Given the description of an element on the screen output the (x, y) to click on. 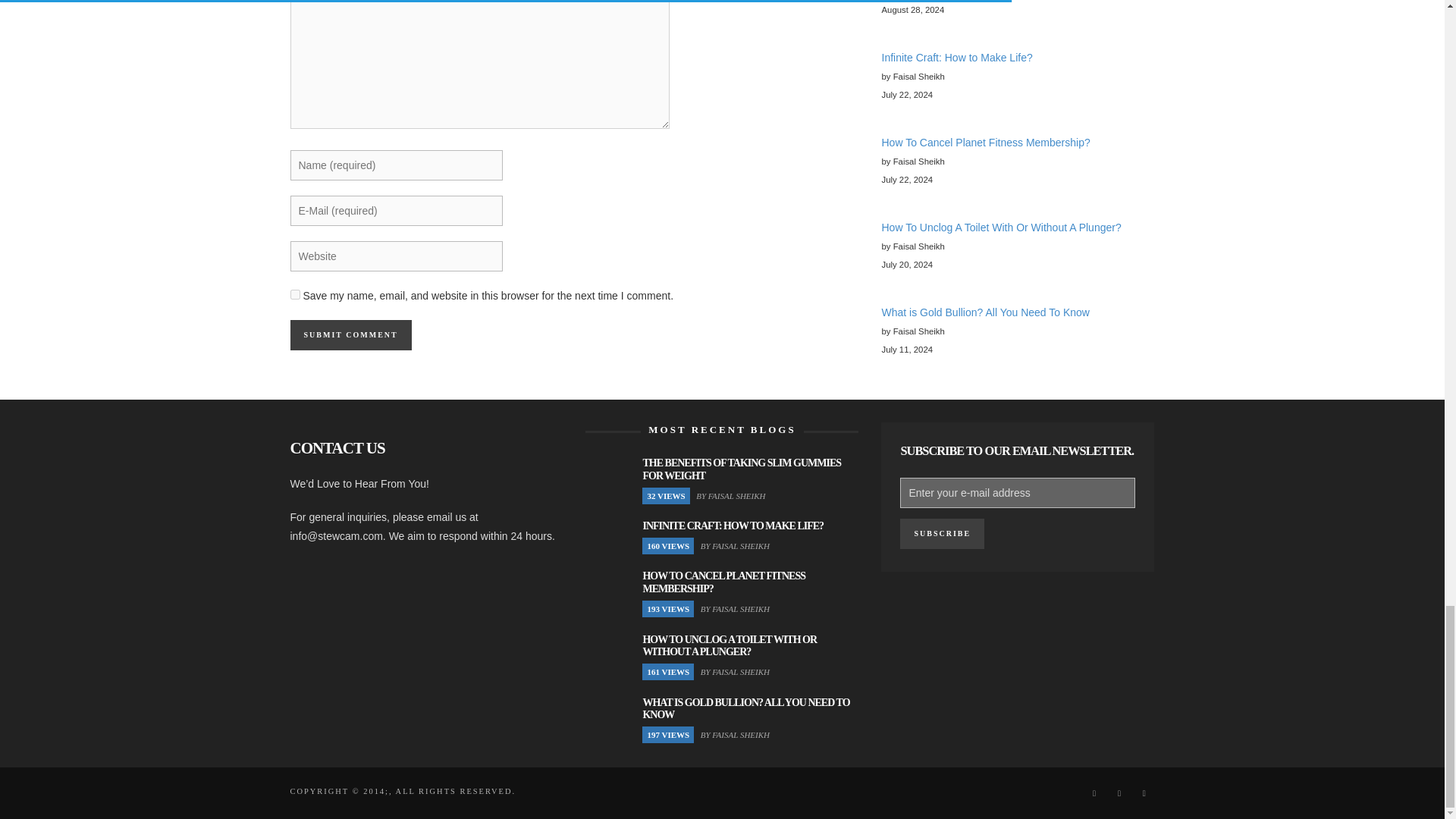
Subscribe (941, 533)
Submit comment (349, 335)
yes (294, 294)
Enter your e-mail address (1017, 492)
